Given the description of an element on the screen output the (x, y) to click on. 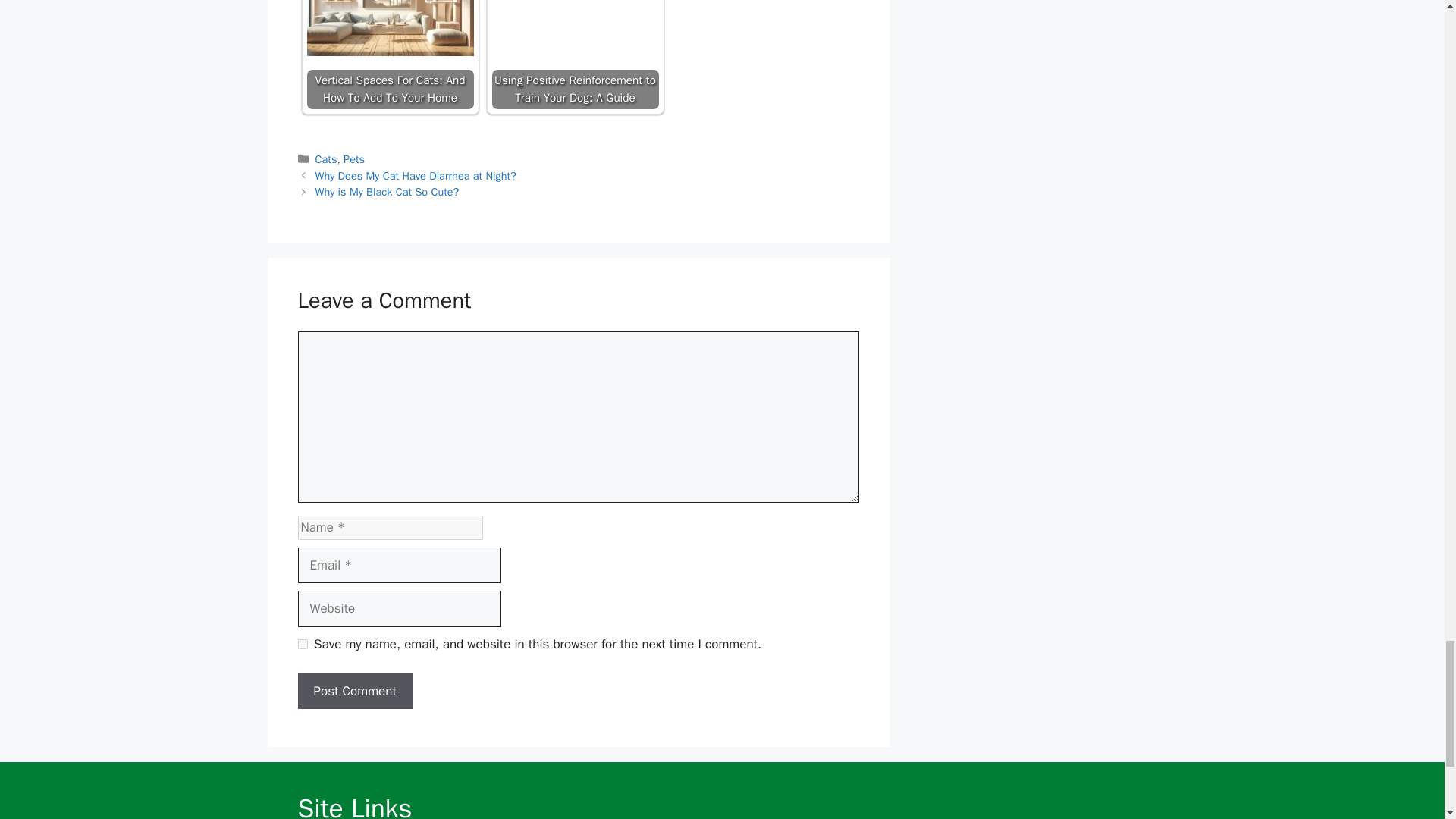
yes (302, 644)
Vertical Spaces For Cats: And How To Add To Your Home (389, 28)
Post Comment (354, 691)
